Given the description of an element on the screen output the (x, y) to click on. 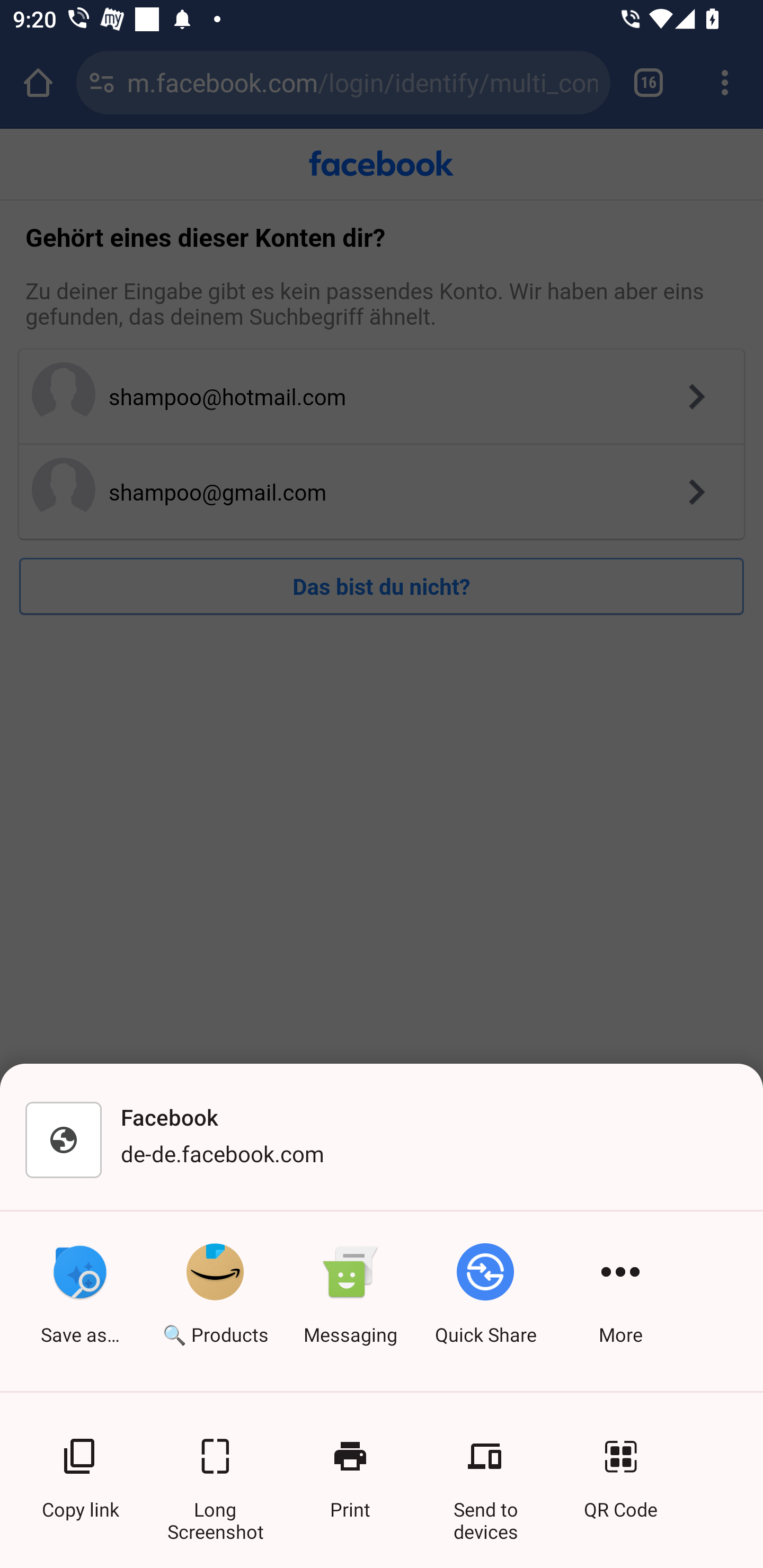
Save as… (80, 1301)
🔍 Products (215, 1301)
Messaging (350, 1301)
Quick Share (485, 1301)
More (620, 1301)
Copy link (80, 1468)
Long Screenshot (215, 1468)
Print (350, 1468)
Send to devices (485, 1468)
QR Code (620, 1468)
